Given the description of an element on the screen output the (x, y) to click on. 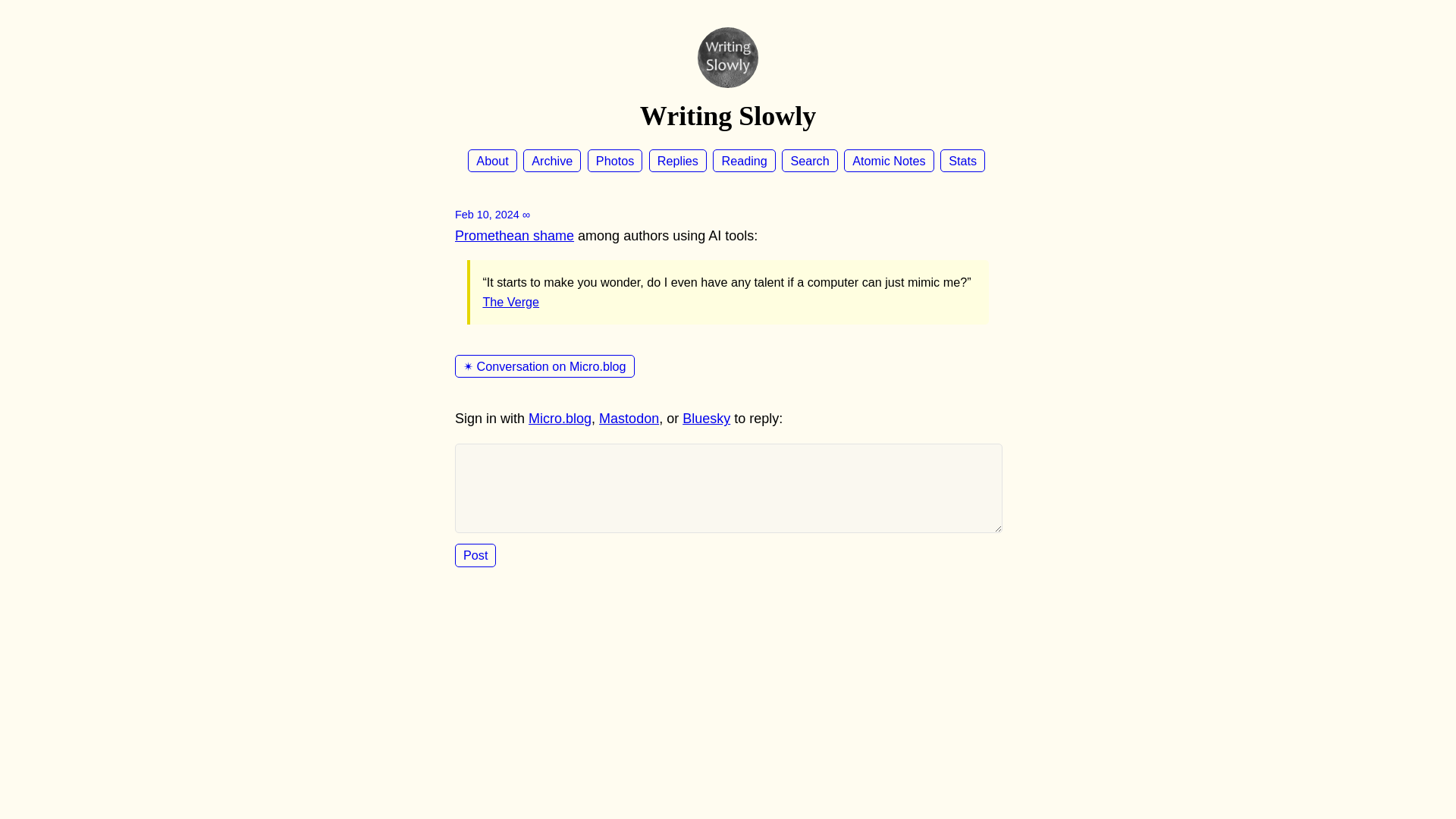
About (491, 160)
The Verge (509, 301)
